Given the description of an element on the screen output the (x, y) to click on. 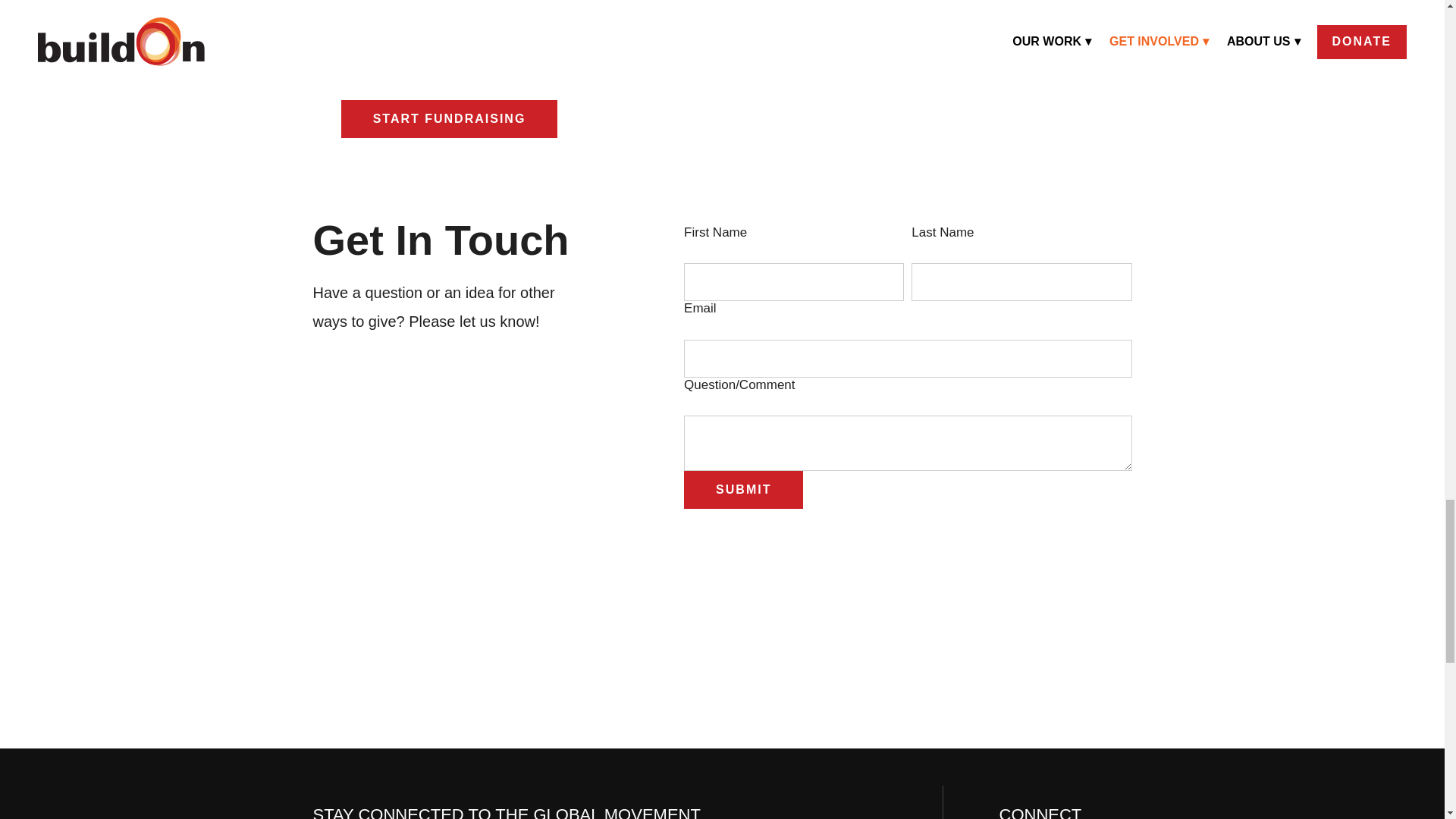
Last Name (1021, 281)
First Name (794, 281)
Email (907, 358)
Submit (743, 489)
